Given the description of an element on the screen output the (x, y) to click on. 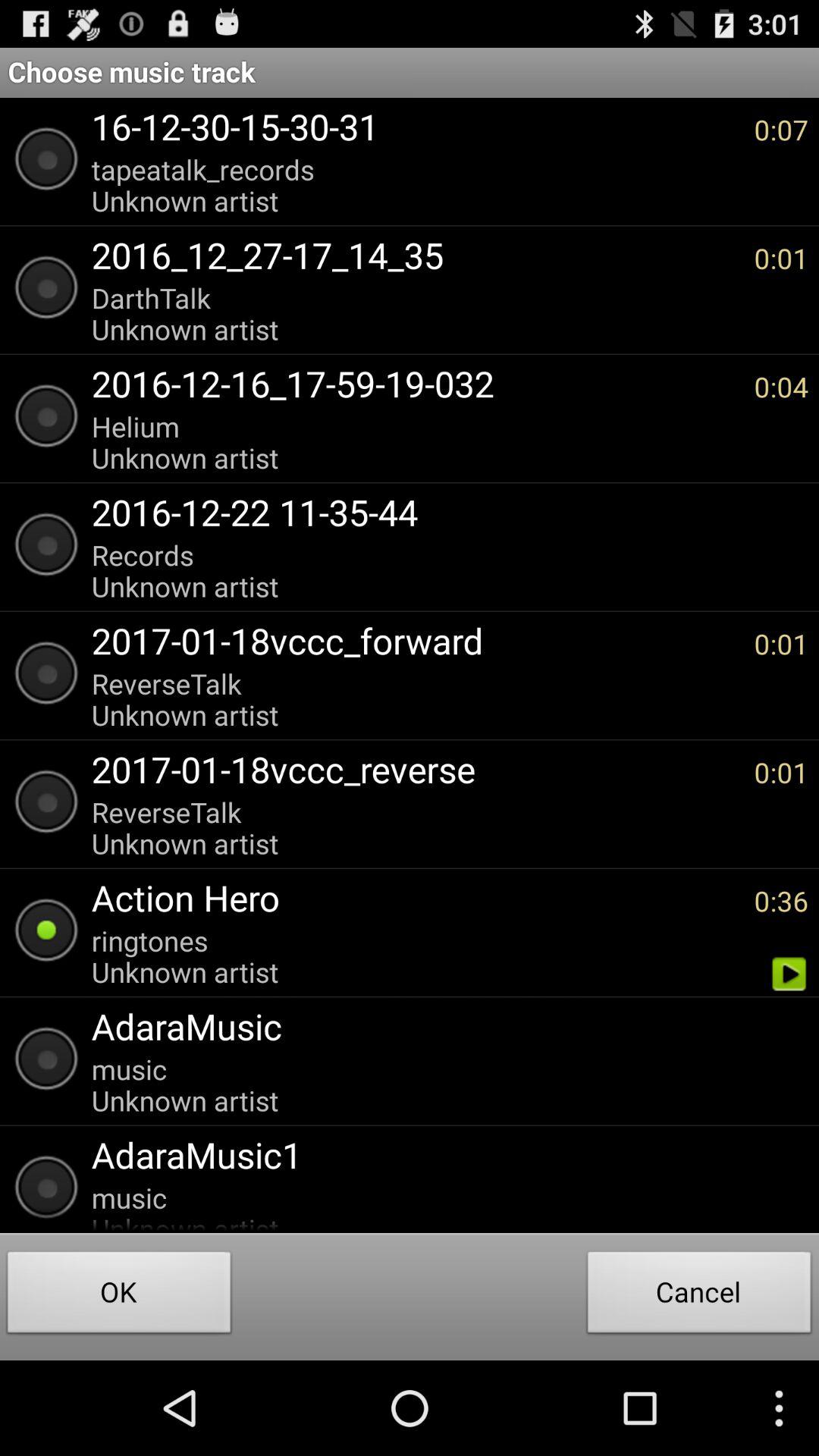
tap app above the 2016_12_27-17_14_35 item (414, 185)
